Given the description of an element on the screen output the (x, y) to click on. 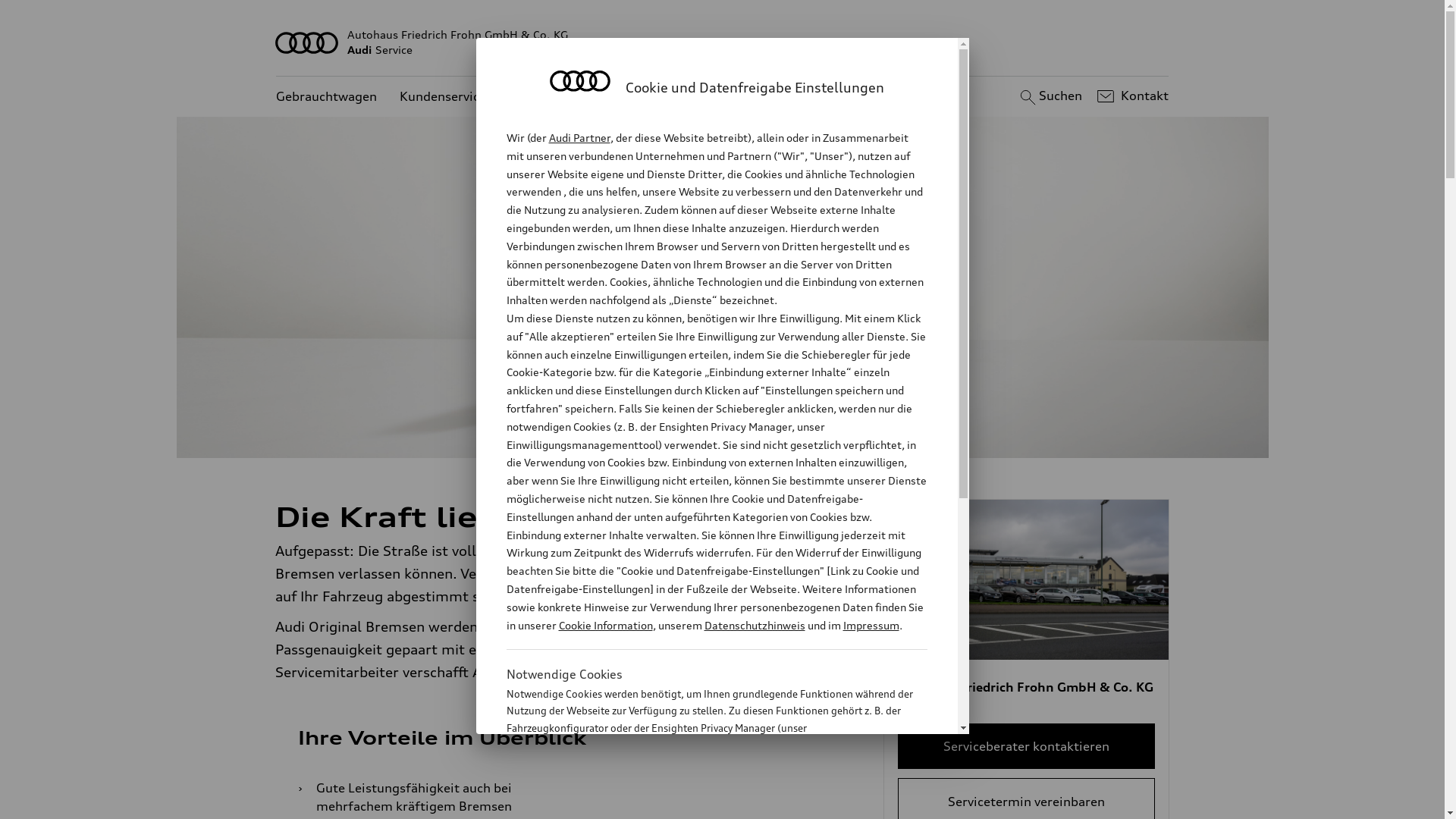
Serviceberater kontaktieren Element type: text (1025, 745)
Kontakt Element type: text (1130, 96)
Impressum Element type: text (871, 624)
Autohaus Friedrich Frohn GmbH & Co. KG
AudiService Element type: text (722, 42)
Audi Partner Element type: text (579, 137)
Cookie Information Element type: text (700, 802)
Gebrauchtwagen Element type: text (326, 96)
Suchen Element type: text (1049, 96)
Kundenservice Element type: text (442, 96)
Datenschutzhinweis Element type: text (753, 624)
Cookie Information Element type: text (605, 624)
